Given the description of an element on the screen output the (x, y) to click on. 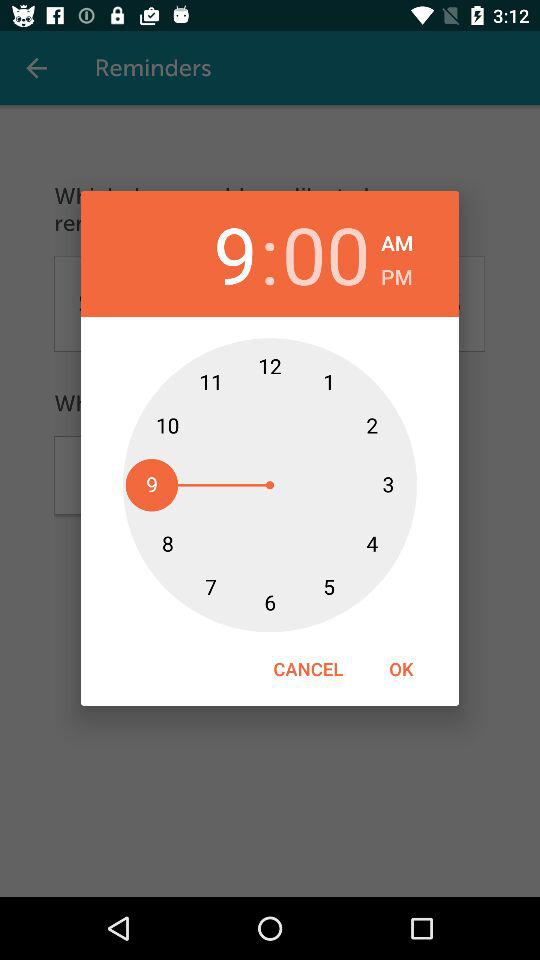
turn on the icon to the left of ok (308, 668)
